Given the description of an element on the screen output the (x, y) to click on. 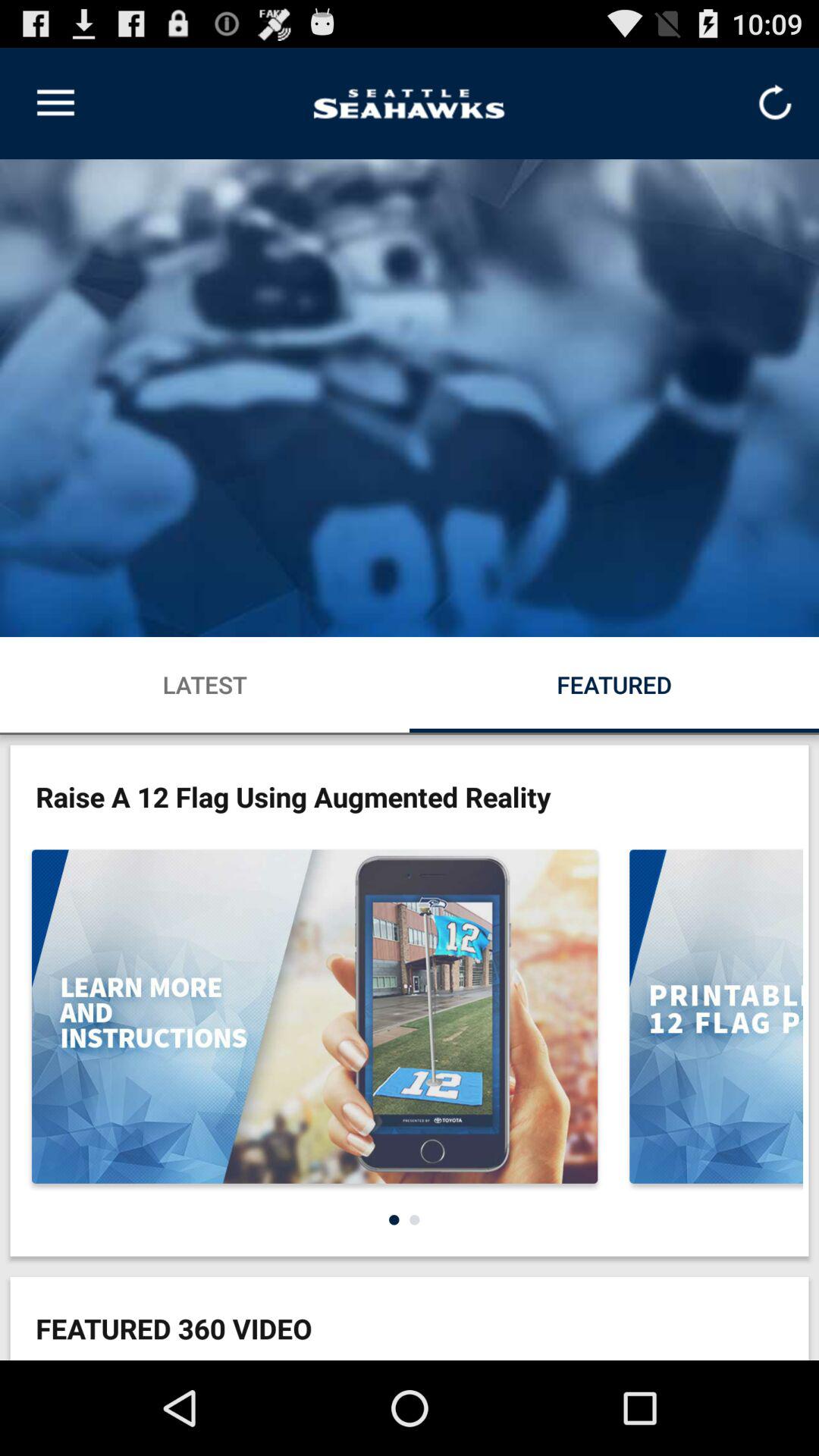
click on top right corner button (774, 103)
